Given the description of an element on the screen output the (x, y) to click on. 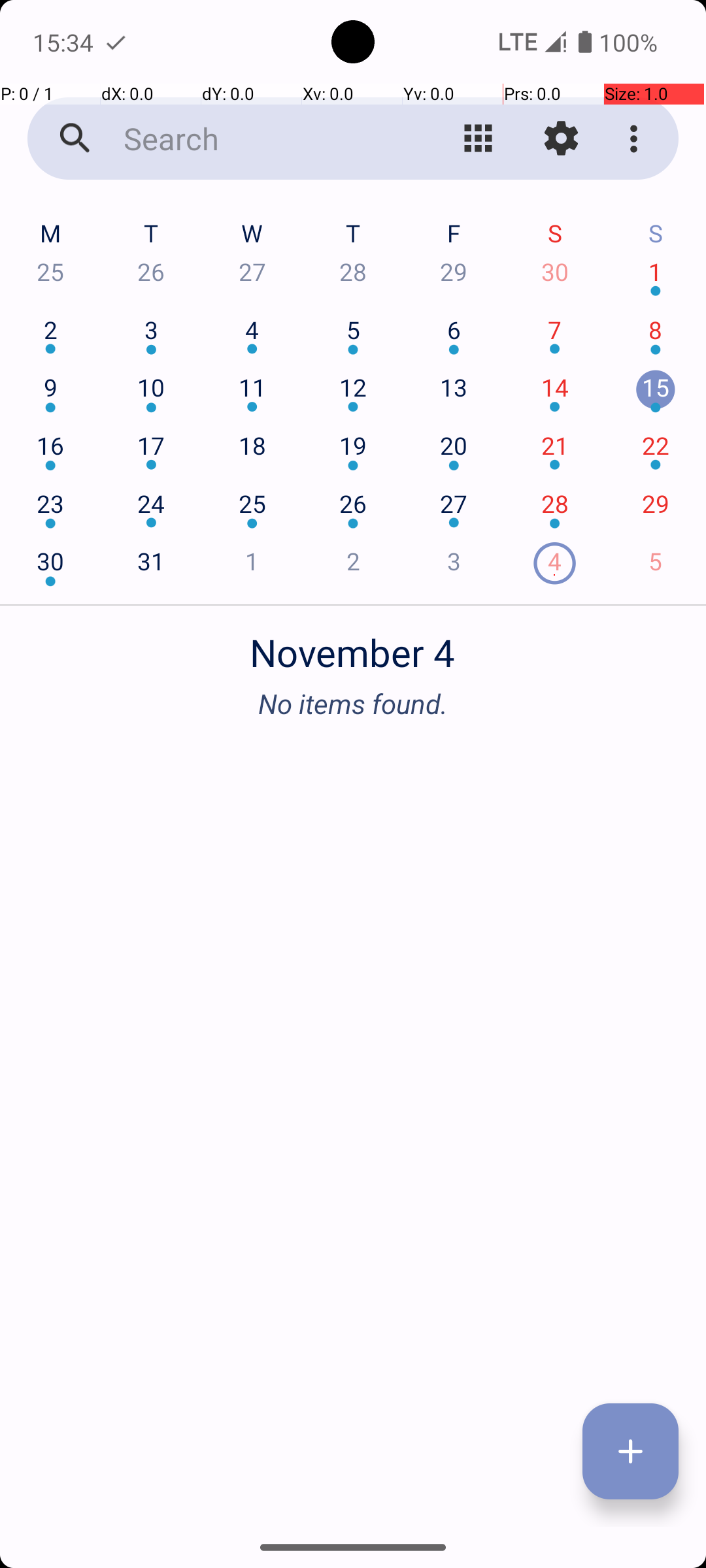
November 4 Element type: android.widget.TextView (352, 644)
